Given the description of an element on the screen output the (x, y) to click on. 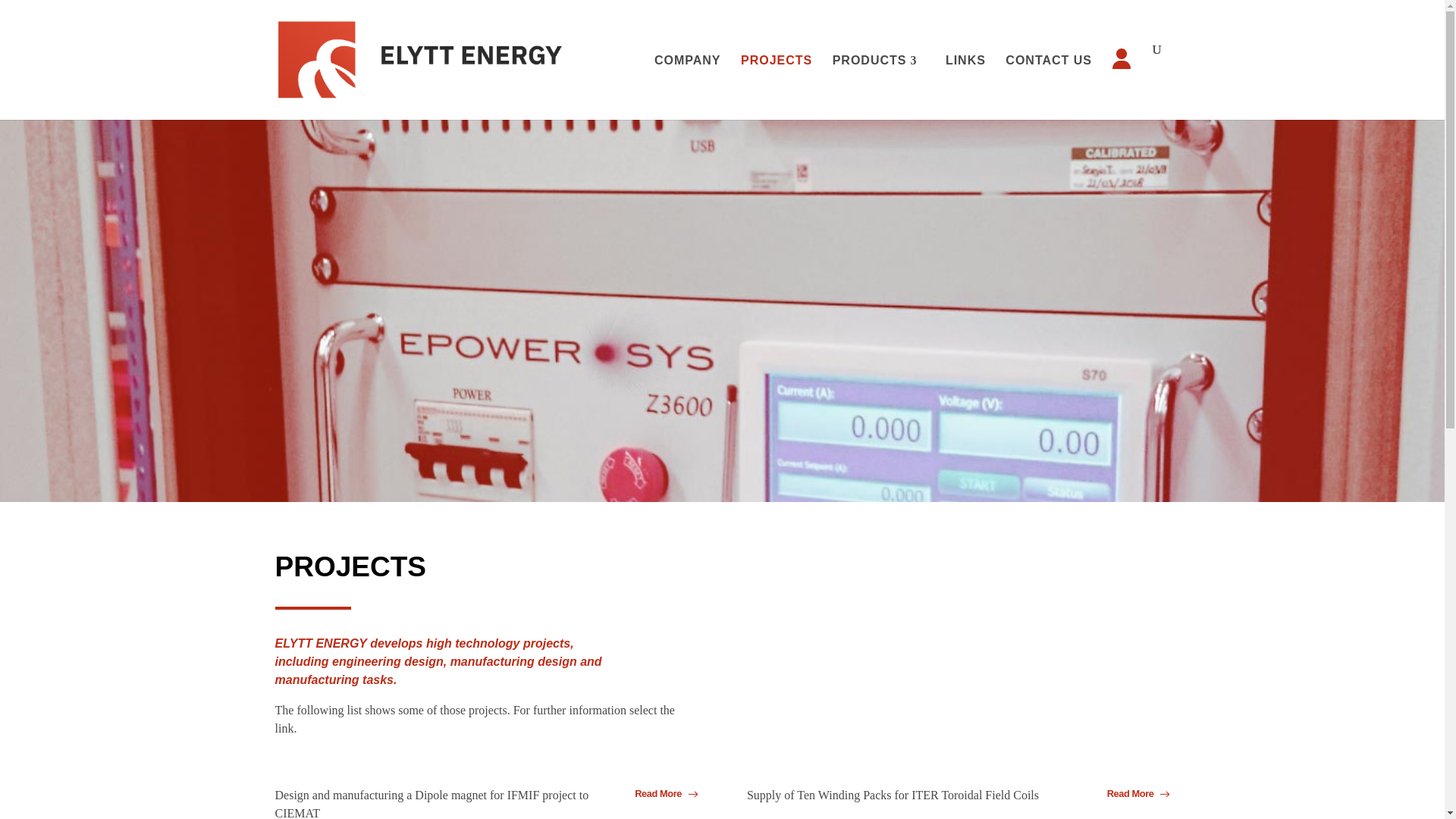
PROJECTS (776, 81)
PRODUCTS (879, 81)
Read More (1131, 793)
Read More (1131, 817)
COMPANY (686, 81)
Read More (659, 793)
CONTACT US (1049, 81)
